Given the description of an element on the screen output the (x, y) to click on. 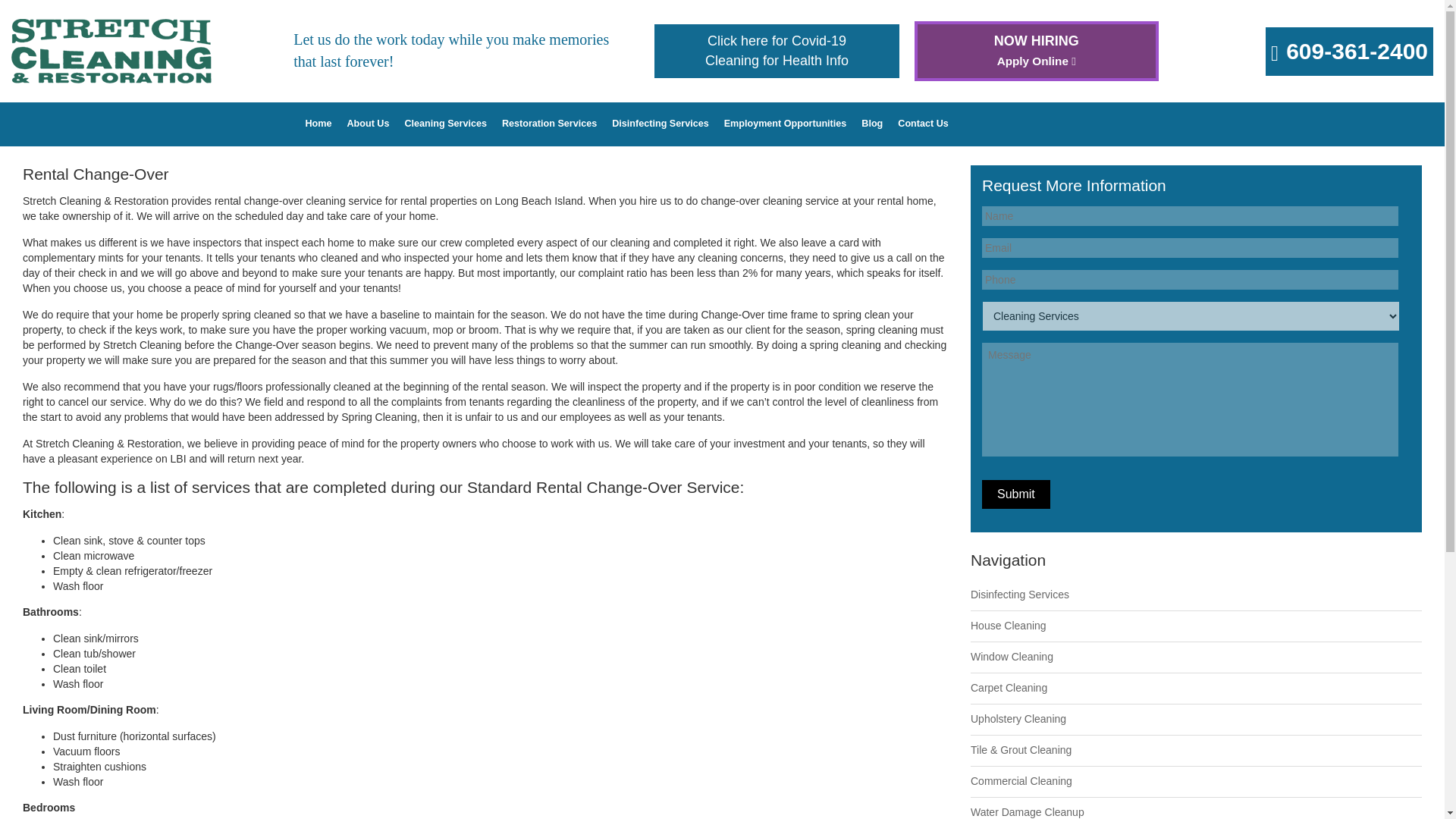
Submit (1015, 493)
About Us (368, 124)
Disinfecting Services (660, 124)
Employment Opportunities (785, 124)
Restoration Services (549, 124)
609-361-2400 (1356, 54)
Cleaning Services (775, 50)
Submit (445, 124)
